Given the description of an element on the screen output the (x, y) to click on. 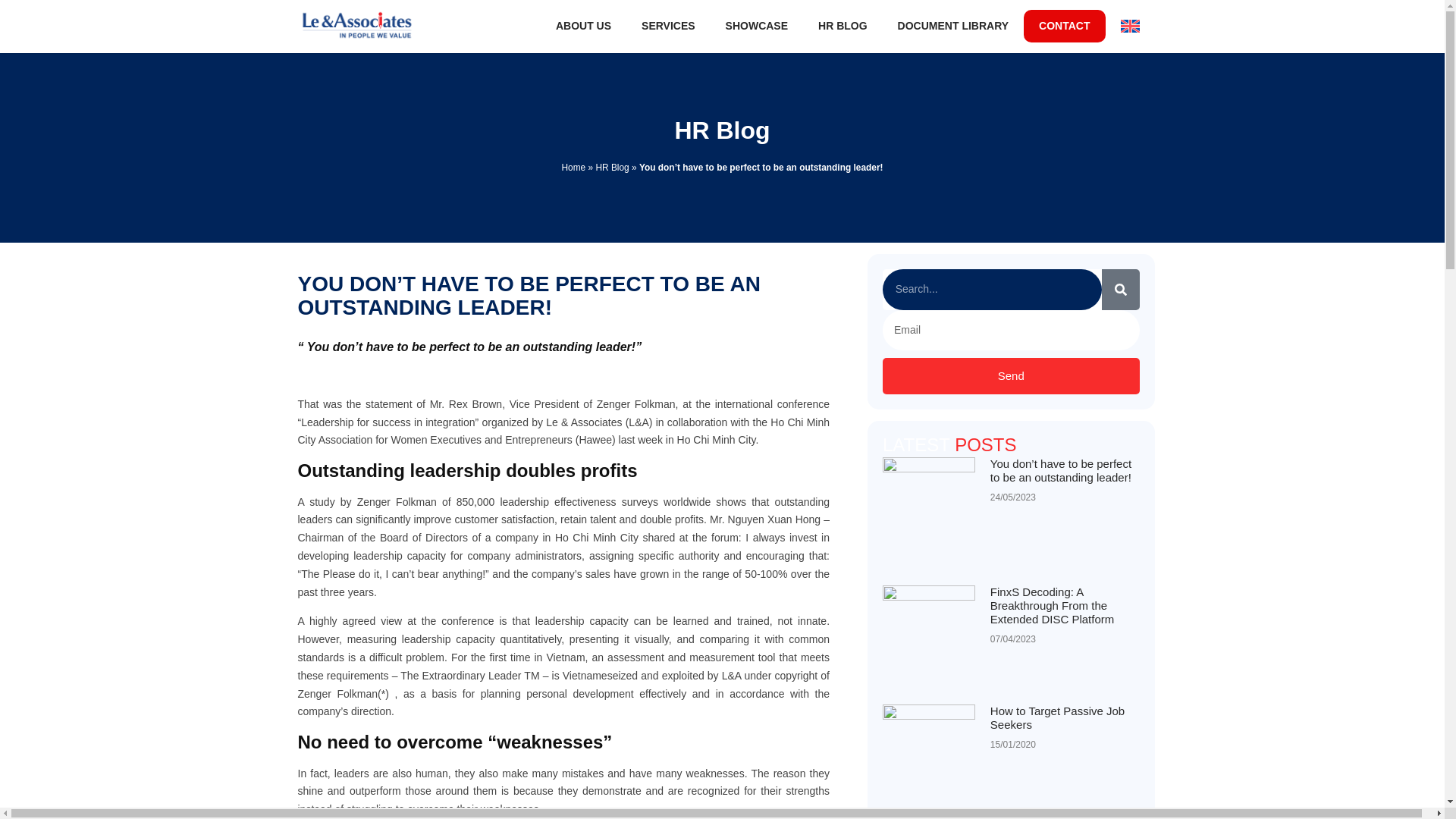
SHOWCASE (756, 25)
ABOUT US (583, 25)
SERVICES (668, 25)
